Given the description of an element on the screen output the (x, y) to click on. 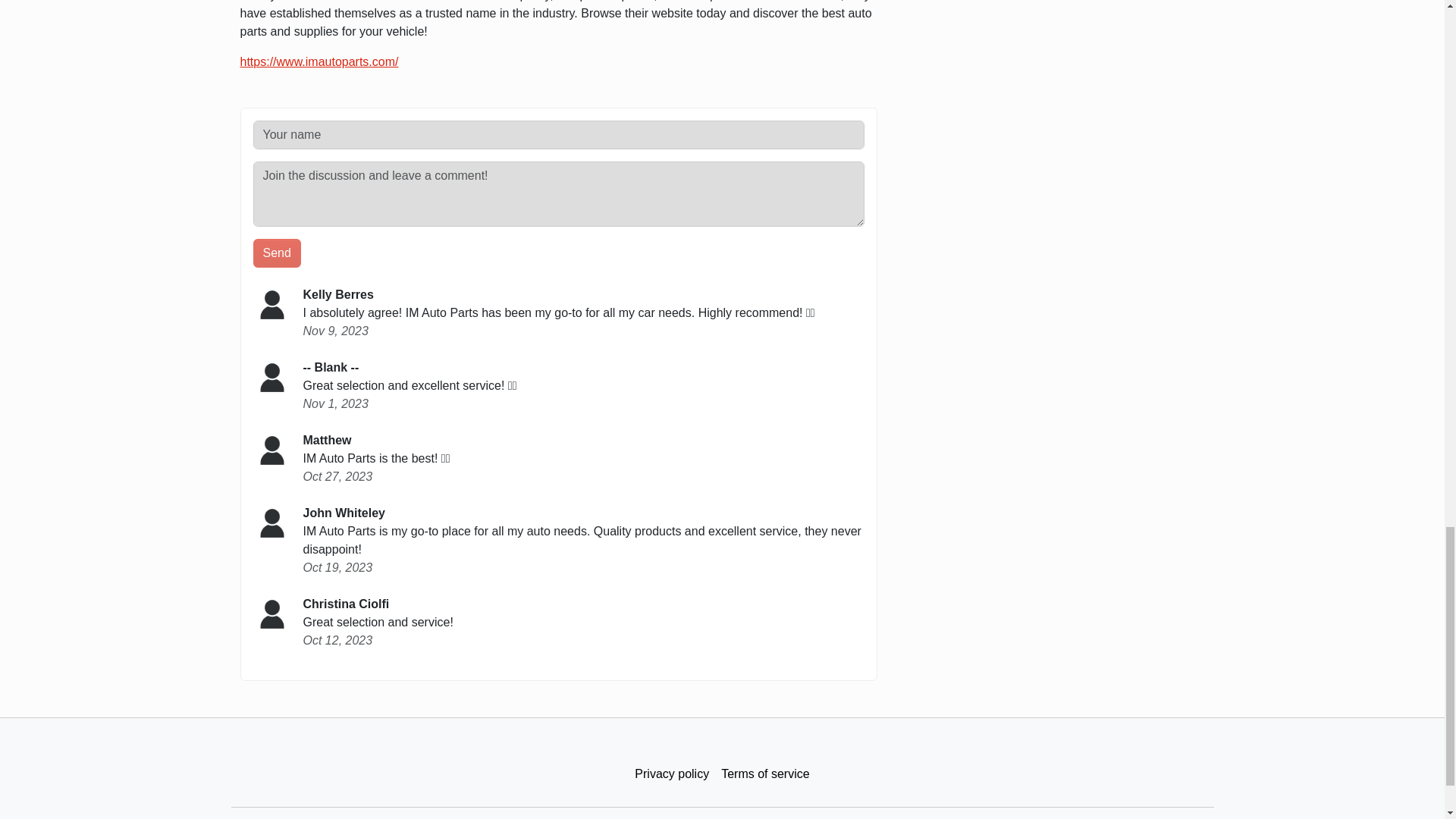
Terms of service (764, 774)
Send (277, 253)
Privacy policy (671, 774)
Send (277, 253)
